Given the description of an element on the screen output the (x, y) to click on. 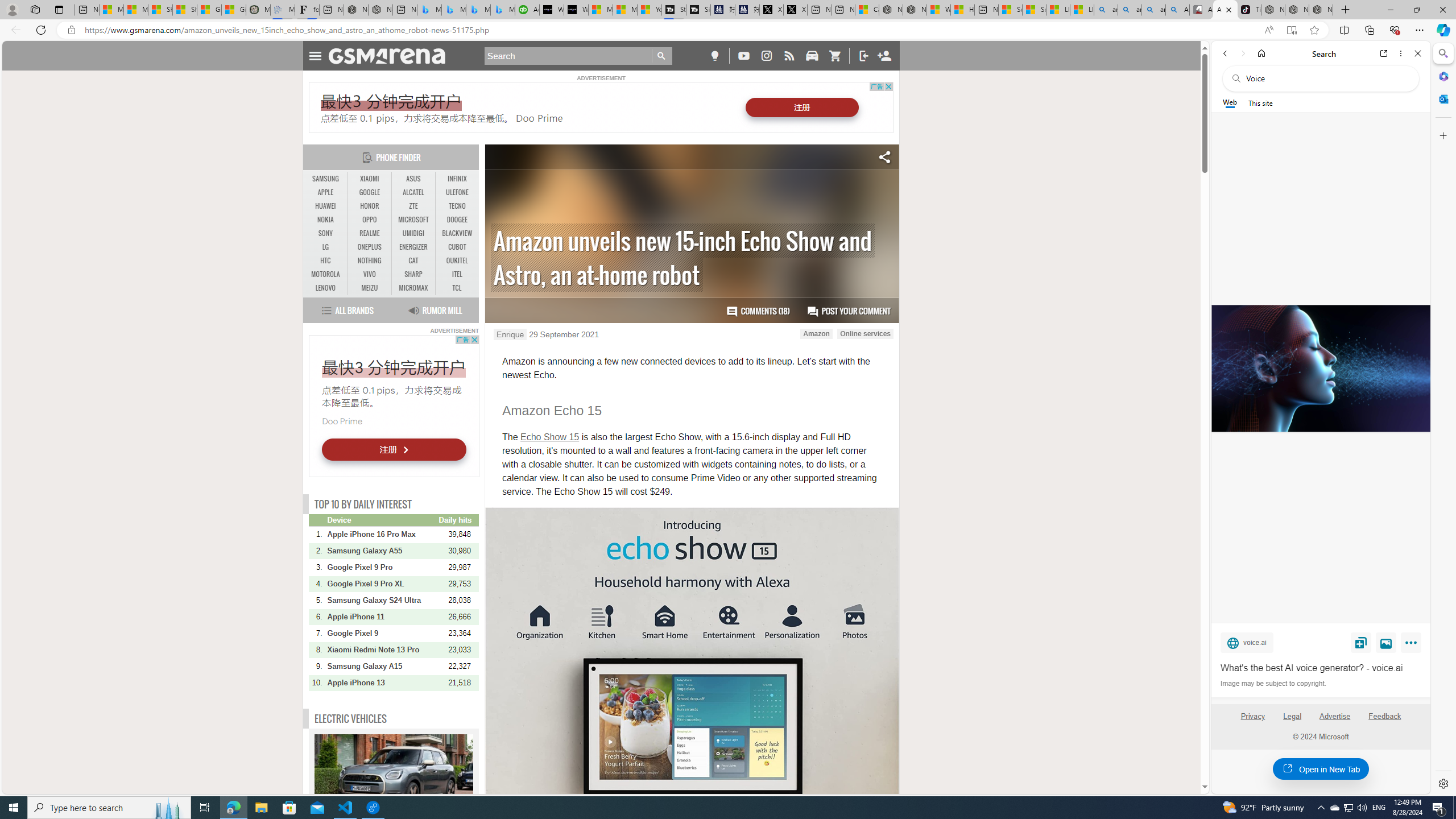
ULEFONE (457, 192)
Toggle Navigation (314, 53)
Side bar (1443, 418)
Apple iPhone 13 (381, 682)
Echo Show 15 (549, 437)
VIVO (369, 273)
MOTOROLA (325, 273)
Samsung Galaxy A15 (381, 665)
INFINIX (457, 178)
ENERGIZER (413, 246)
SHARP (413, 273)
